Given the description of an element on the screen output the (x, y) to click on. 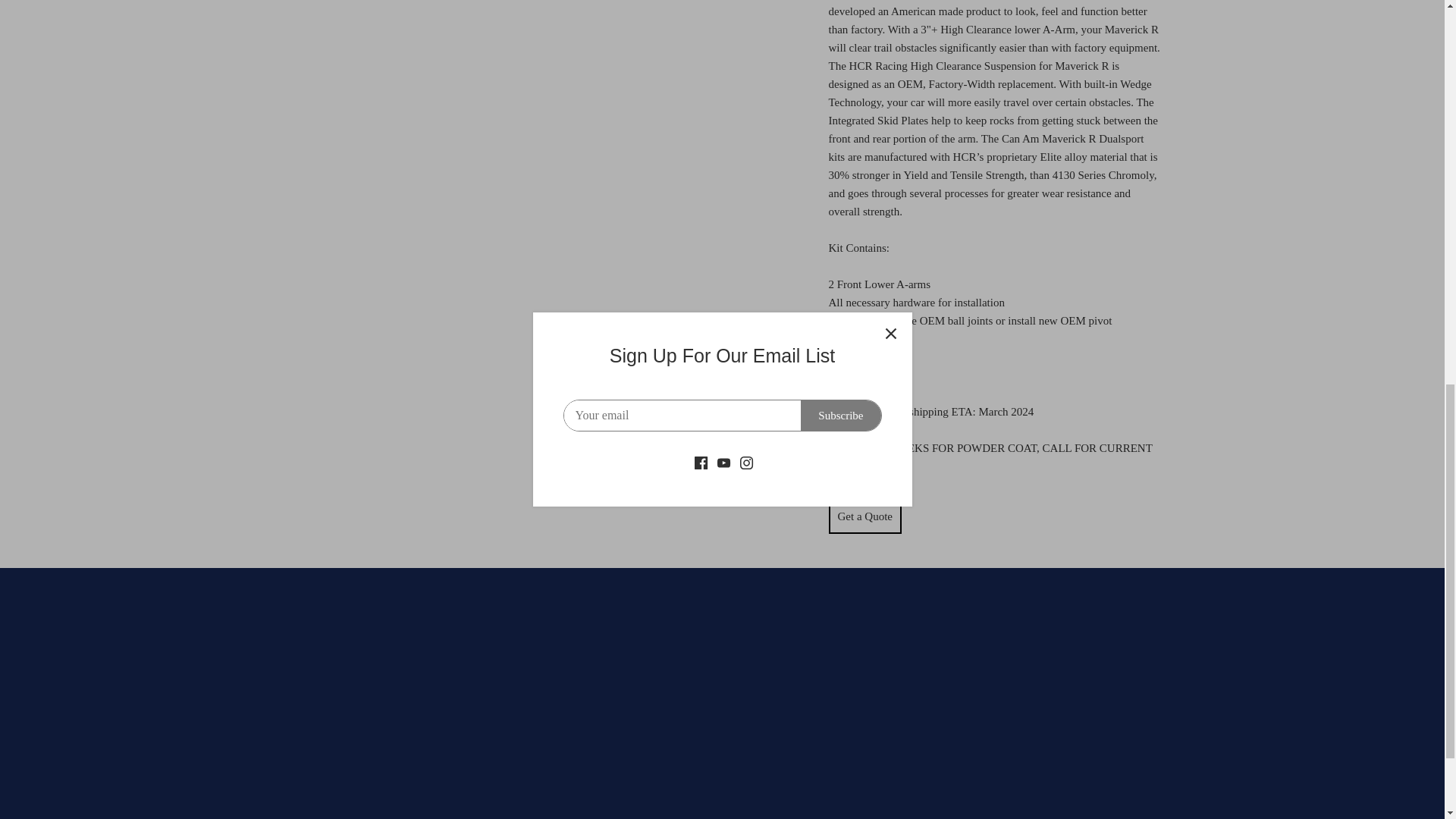
Get a Quote (864, 516)
